Given the description of an element on the screen output the (x, y) to click on. 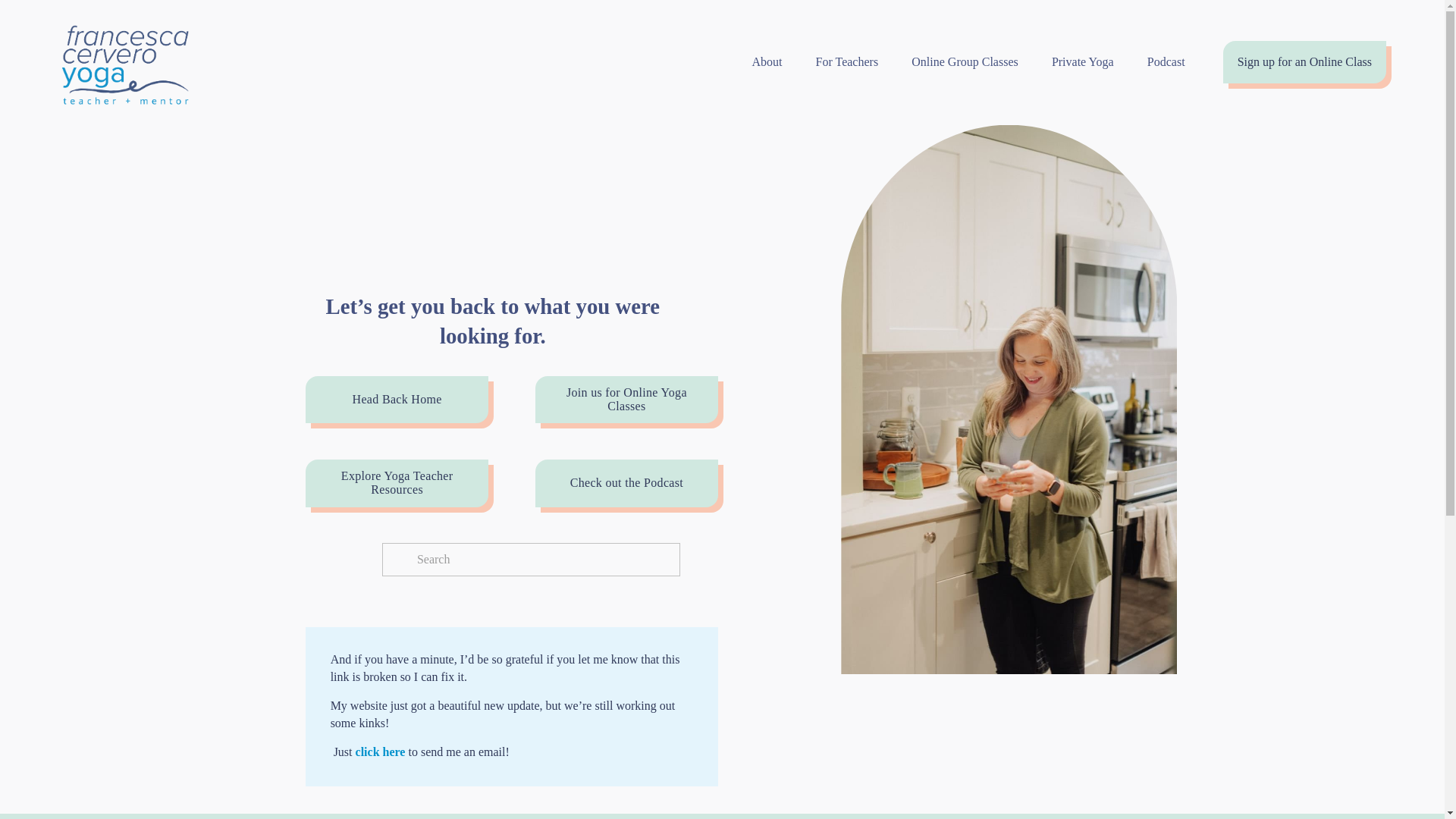
Join us for Online Yoga Classes (626, 399)
click here (380, 751)
Head Back Home (396, 399)
Sign up for an Online Class (1304, 61)
Check out the Podcast (626, 482)
Explore Yoga Teacher Resources (396, 482)
About (766, 62)
For Teachers (847, 62)
Private Yoga (1082, 62)
Podcast (1166, 62)
Online Group Classes (964, 62)
